Given the description of an element on the screen output the (x, y) to click on. 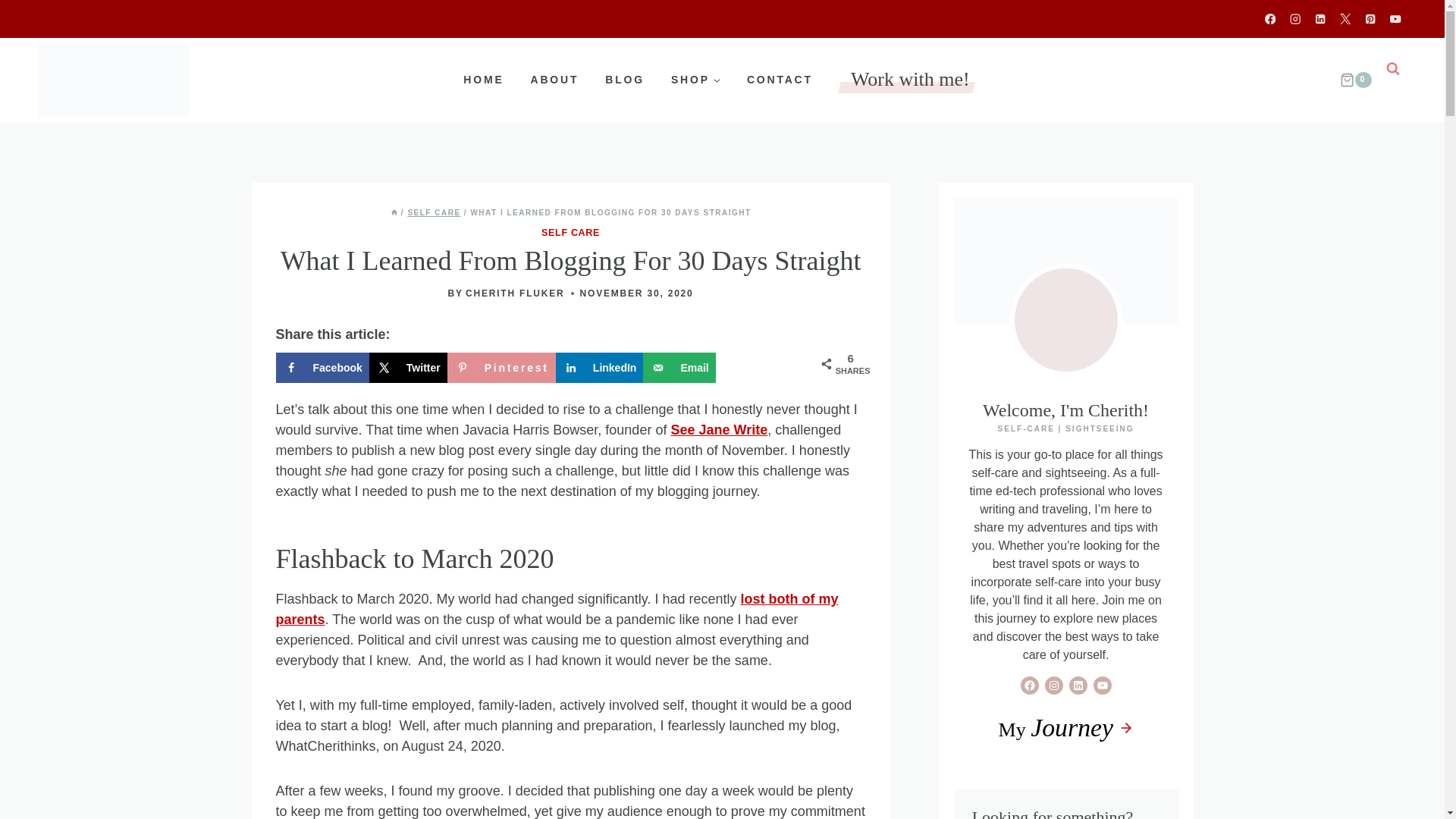
Share on X (407, 367)
Share on LinkedIn (599, 367)
SHOP (695, 79)
Send over email (678, 367)
Home (393, 212)
Facebook (322, 367)
Twitter (407, 367)
LinkedIn (599, 367)
lost both of my parents (557, 609)
HOME (482, 79)
